Given the description of an element on the screen output the (x, y) to click on. 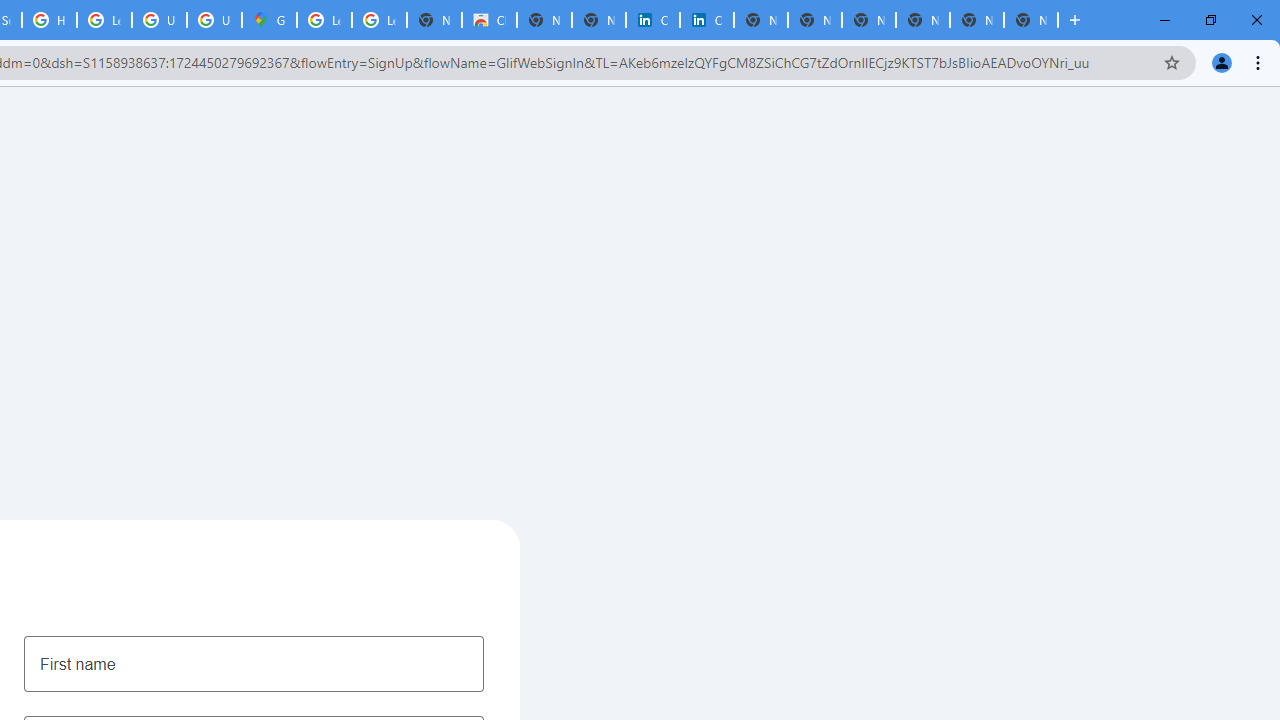
Google Maps (268, 20)
First name (253, 663)
Cookie Policy | LinkedIn (706, 20)
How Chrome protects your passwords - Google Chrome Help (48, 20)
Chrome Web Store (489, 20)
